Given the description of an element on the screen output the (x, y) to click on. 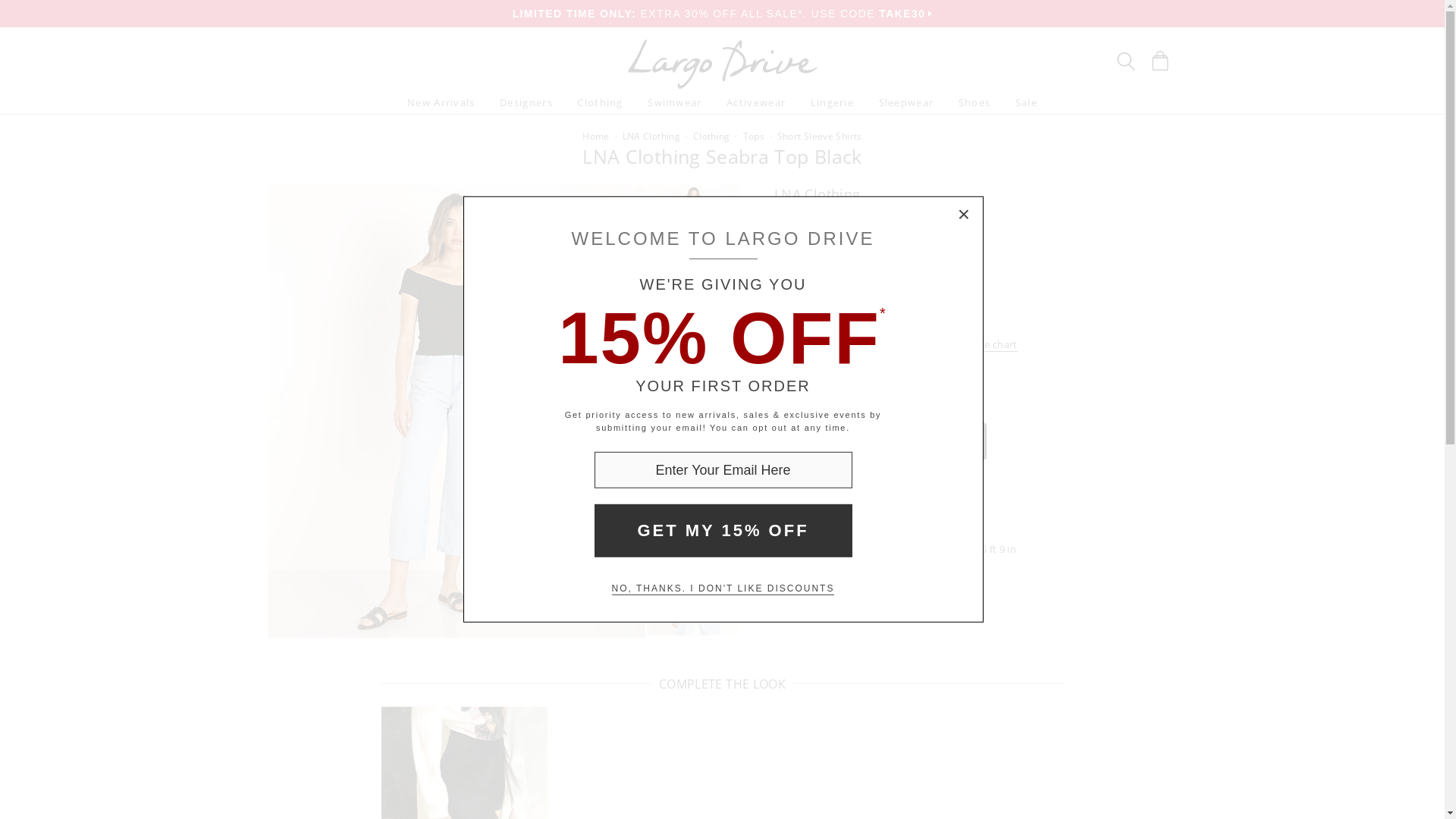
Enter Your Email Here (722, 470)
Search Box (1125, 61)
Your email address (722, 470)
Designers (526, 101)
Shopping Bag (1159, 60)
Largo Drive (721, 42)
New Arrivals (441, 101)
1 (862, 371)
